Given the description of an element on the screen output the (x, y) to click on. 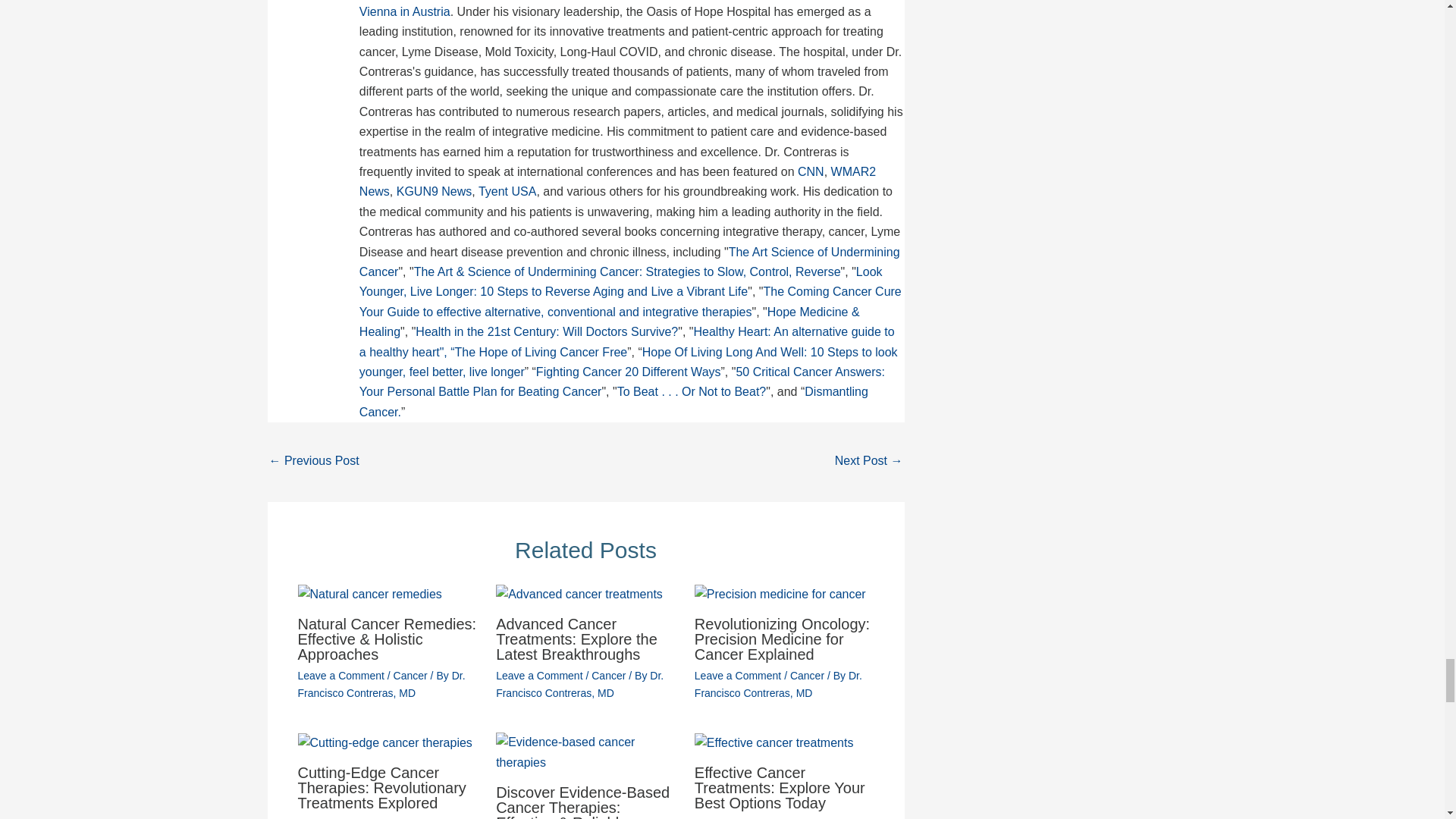
View all posts by Dr. Francisco Contreras, MD (777, 683)
View all posts by Dr. Francisco Contreras, MD (579, 683)
View all posts by Dr. Francisco Contreras, MD (380, 683)
